Given the description of an element on the screen output the (x, y) to click on. 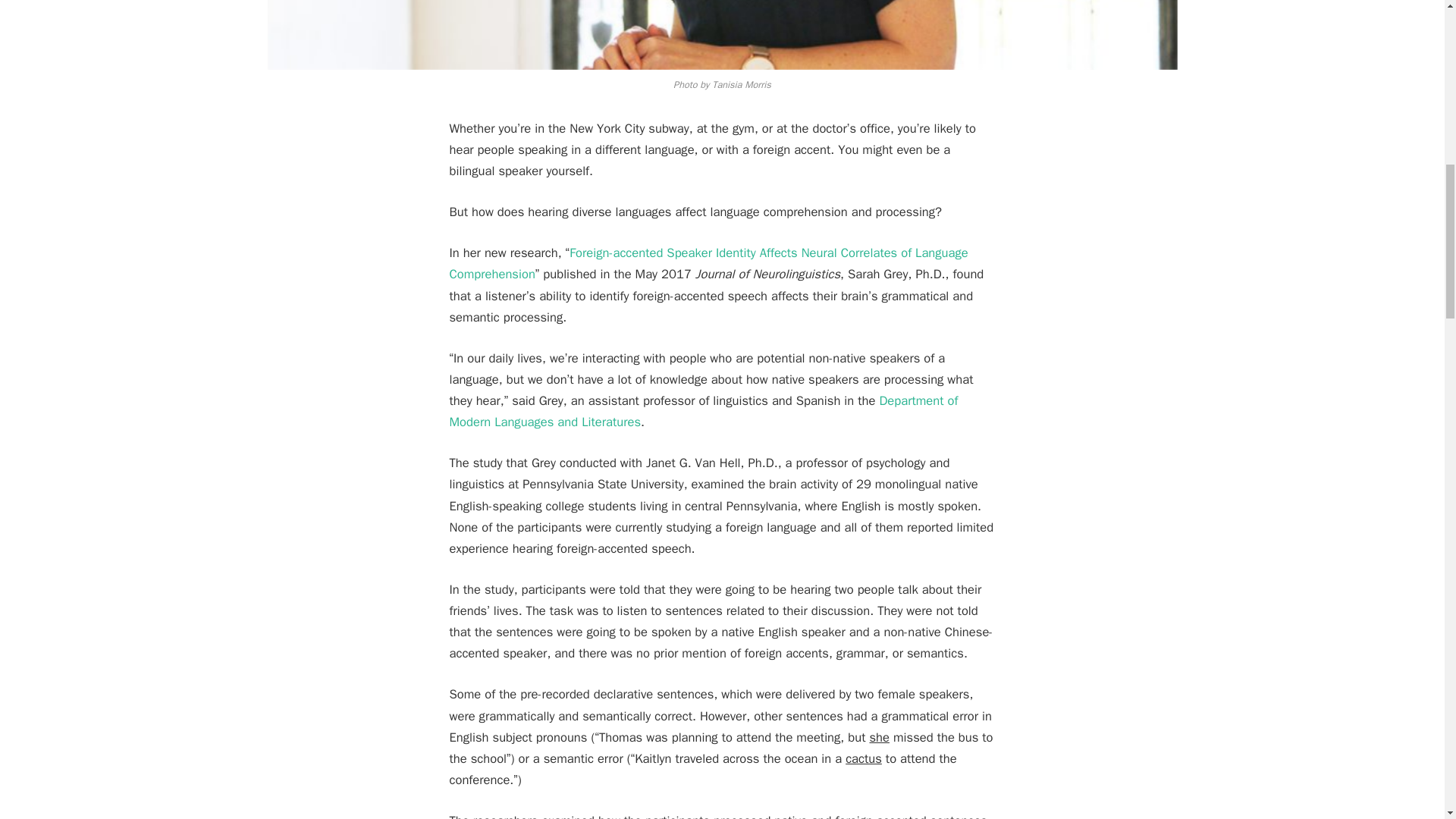
Department of Modern Languages and Literatures (703, 411)
